Given the description of an element on the screen output the (x, y) to click on. 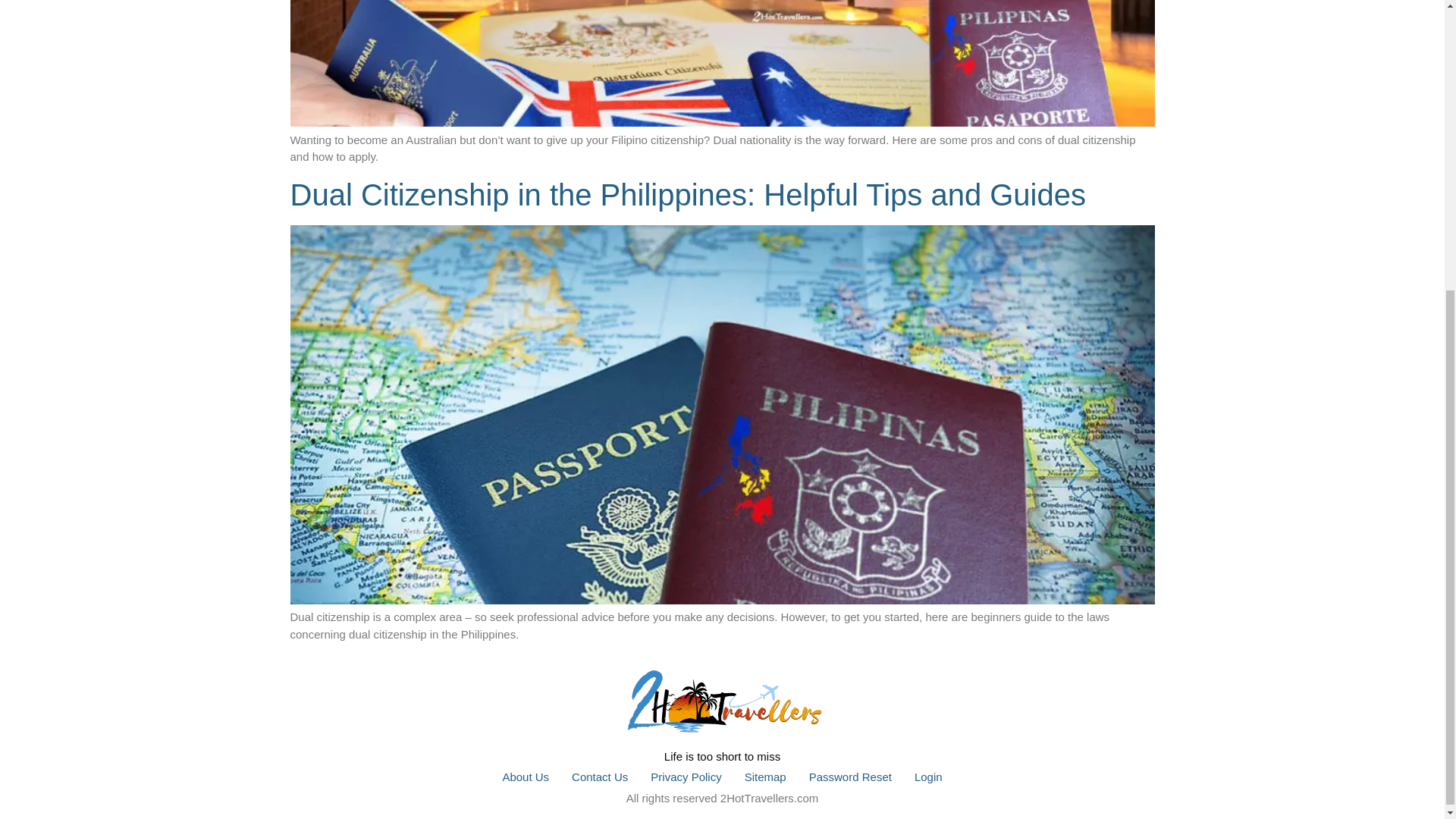
Password Reset (849, 777)
About Us (525, 777)
Privacy Policy (685, 777)
Contact Us (599, 777)
Login (927, 777)
Sitemap (765, 777)
Dual Citizenship in the Philippines: Helpful Tips and Guides (686, 194)
